Given the description of an element on the screen output the (x, y) to click on. 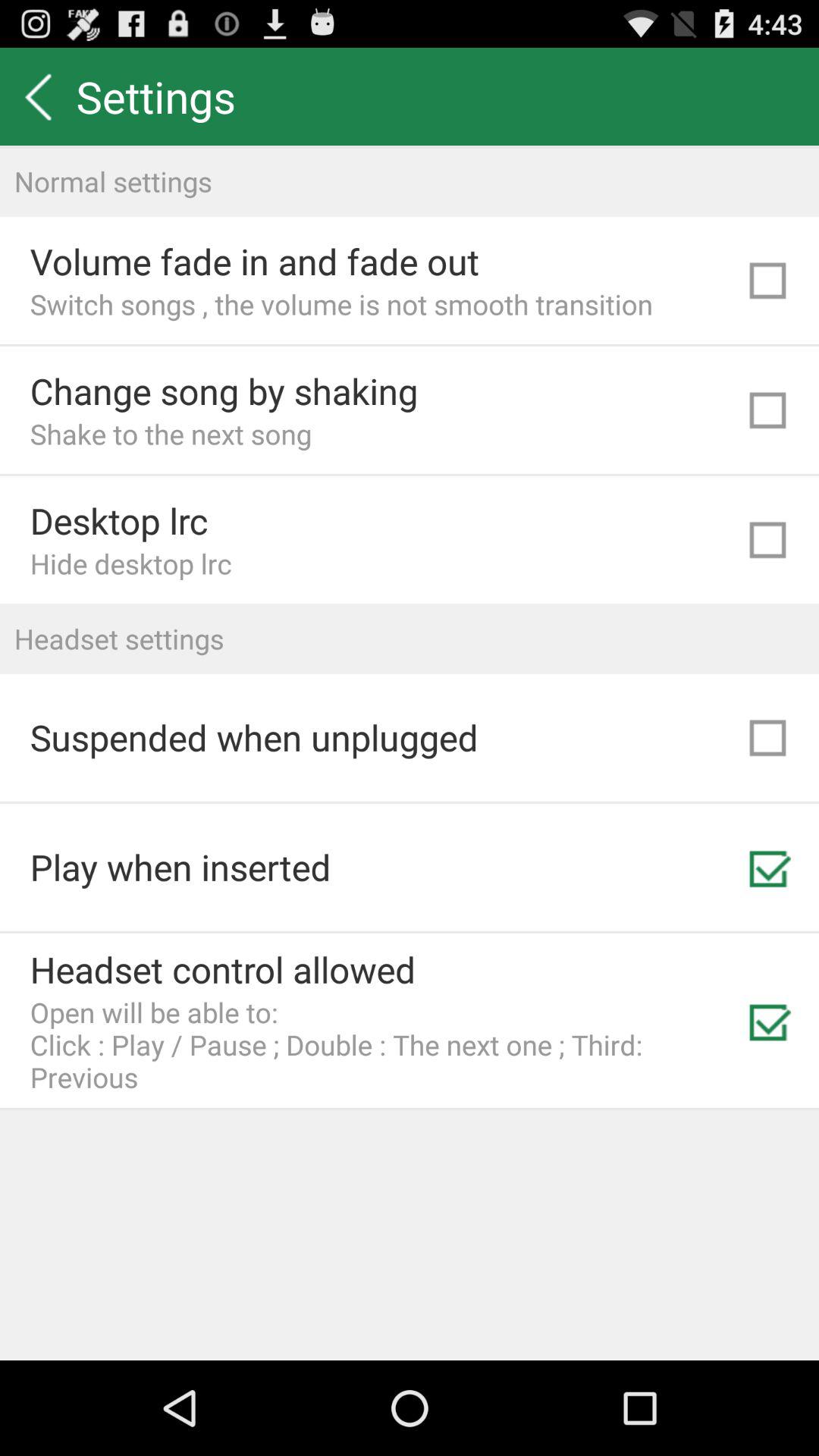
flip until suspended when unplugged (254, 737)
